Given the description of an element on the screen output the (x, y) to click on. 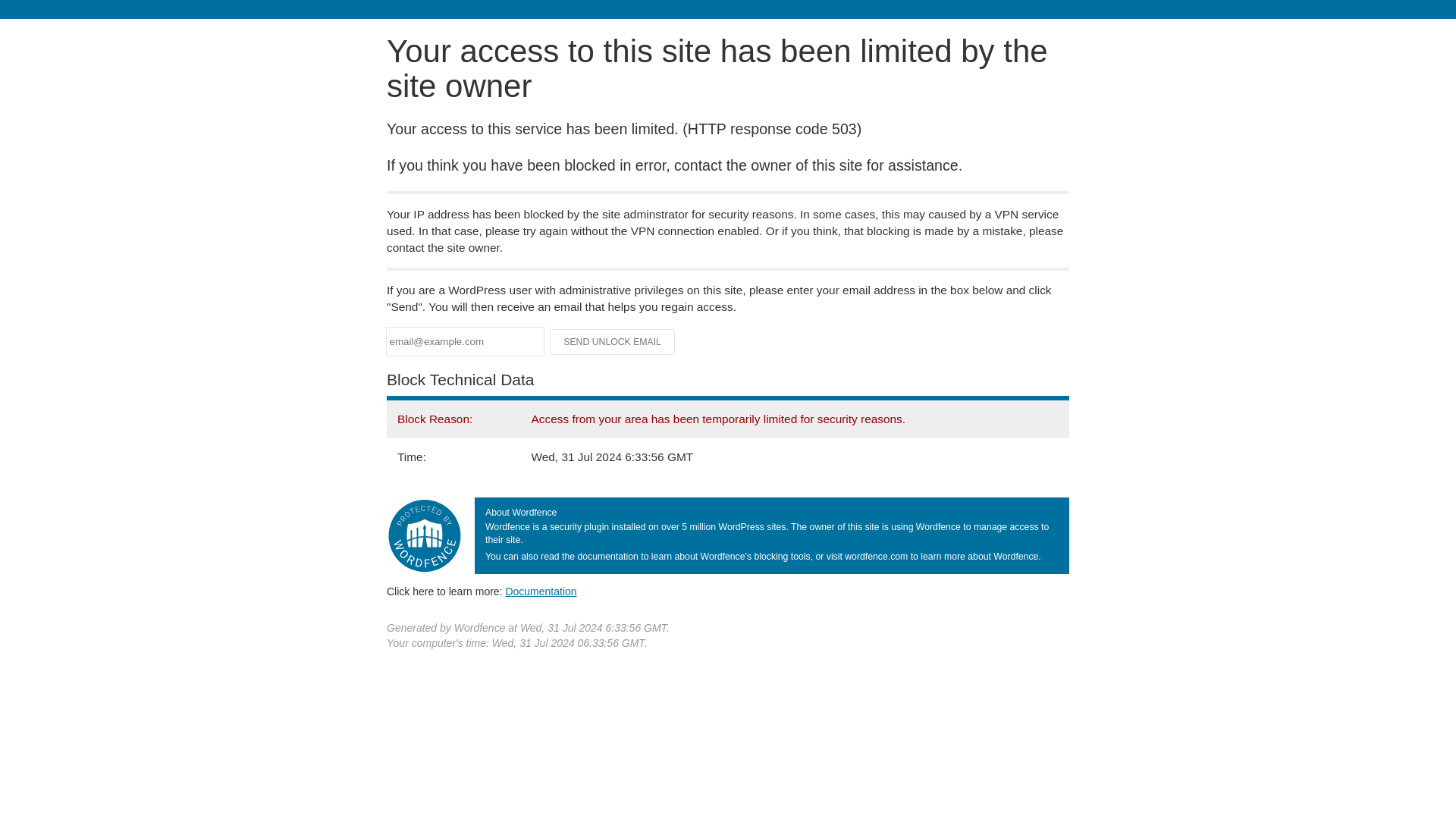
Documentation (540, 591)
Send Unlock Email (612, 341)
Send Unlock Email (612, 341)
